Given the description of an element on the screen output the (x, y) to click on. 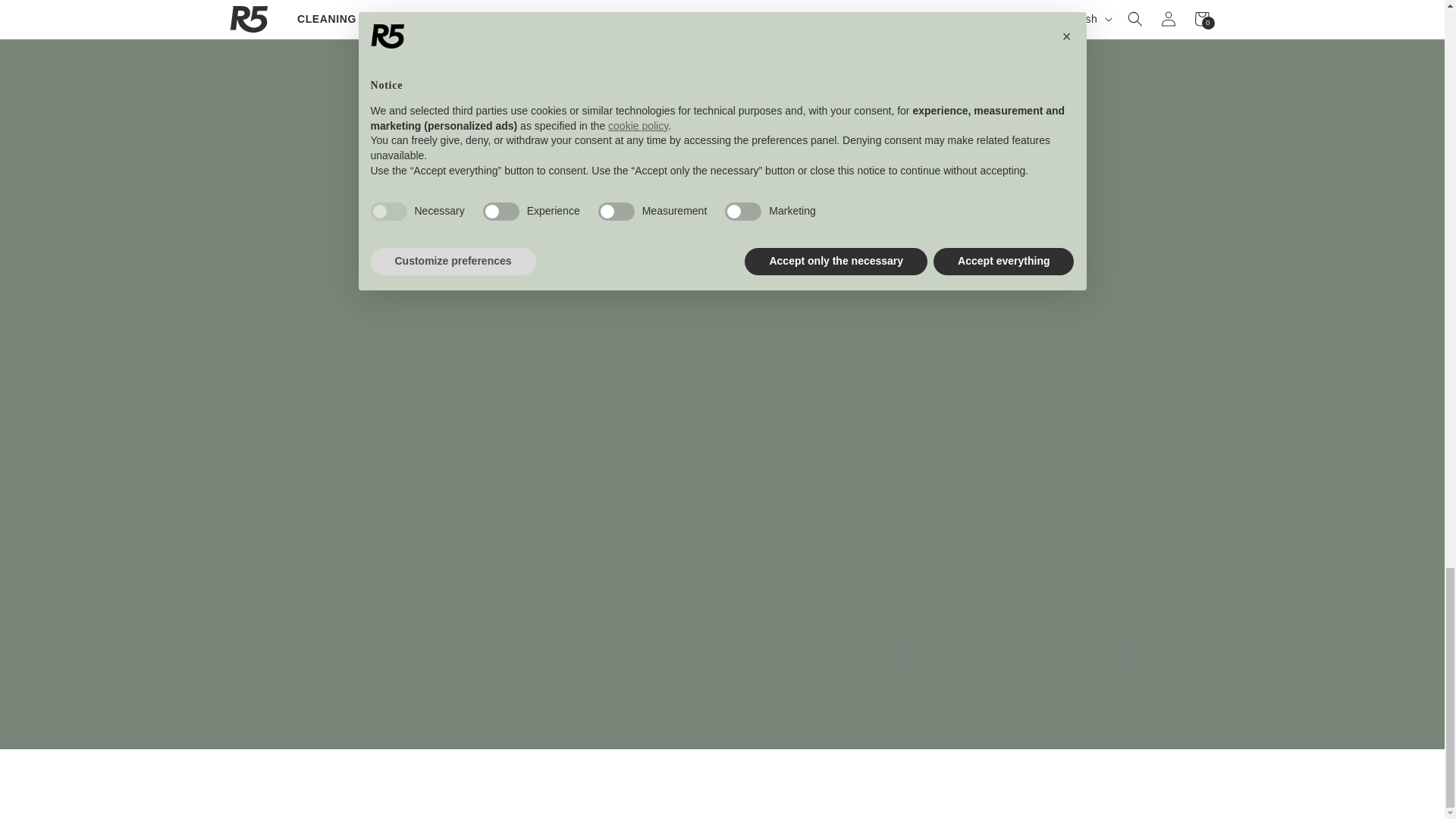
on (236, 532)
